Given the description of an element on the screen output the (x, y) to click on. 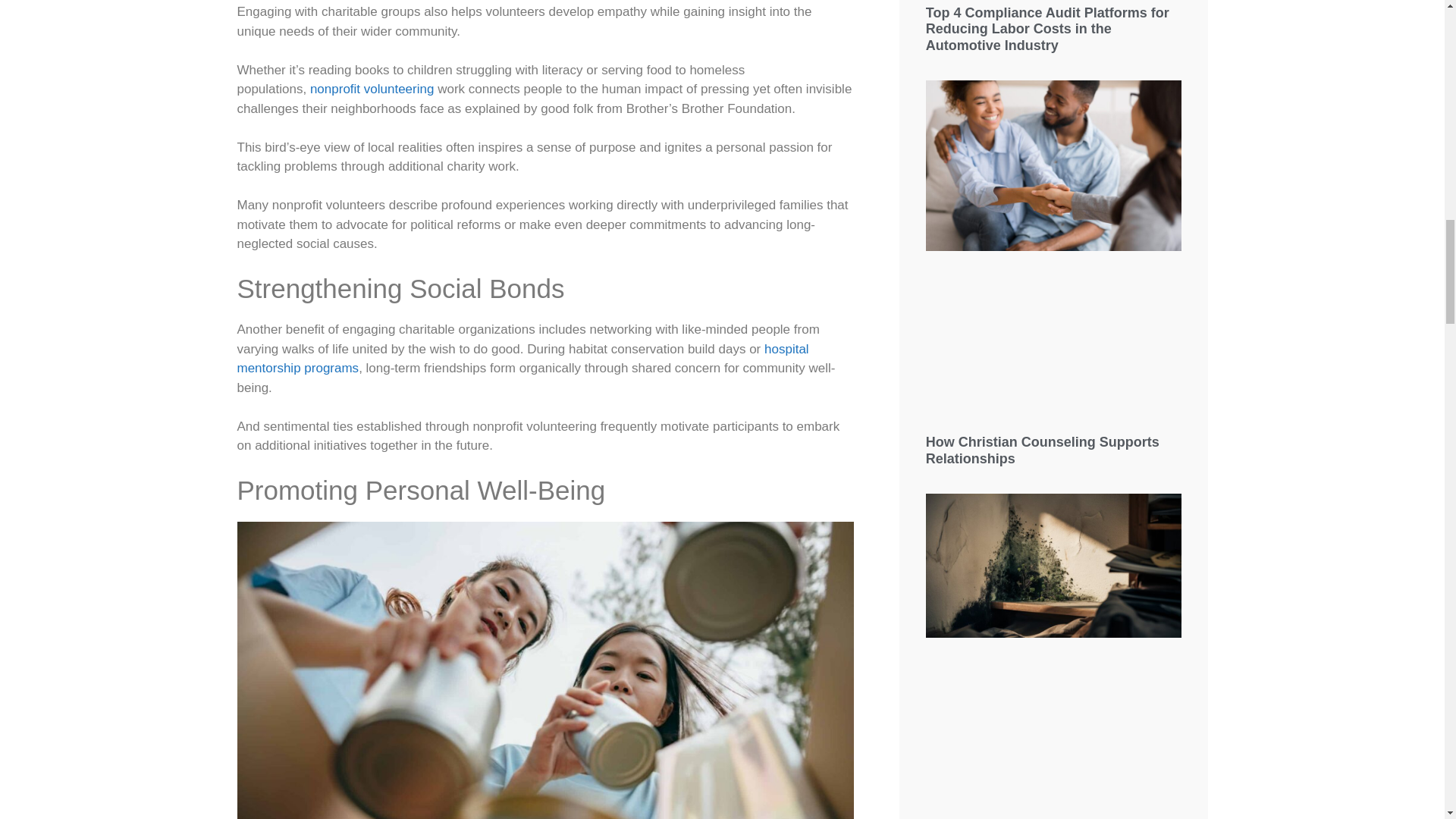
hospital mentorship programs (521, 358)
How Christian Counseling Supports Relationships (1042, 450)
nonprofit volunteering (371, 88)
